Given the description of an element on the screen output the (x, y) to click on. 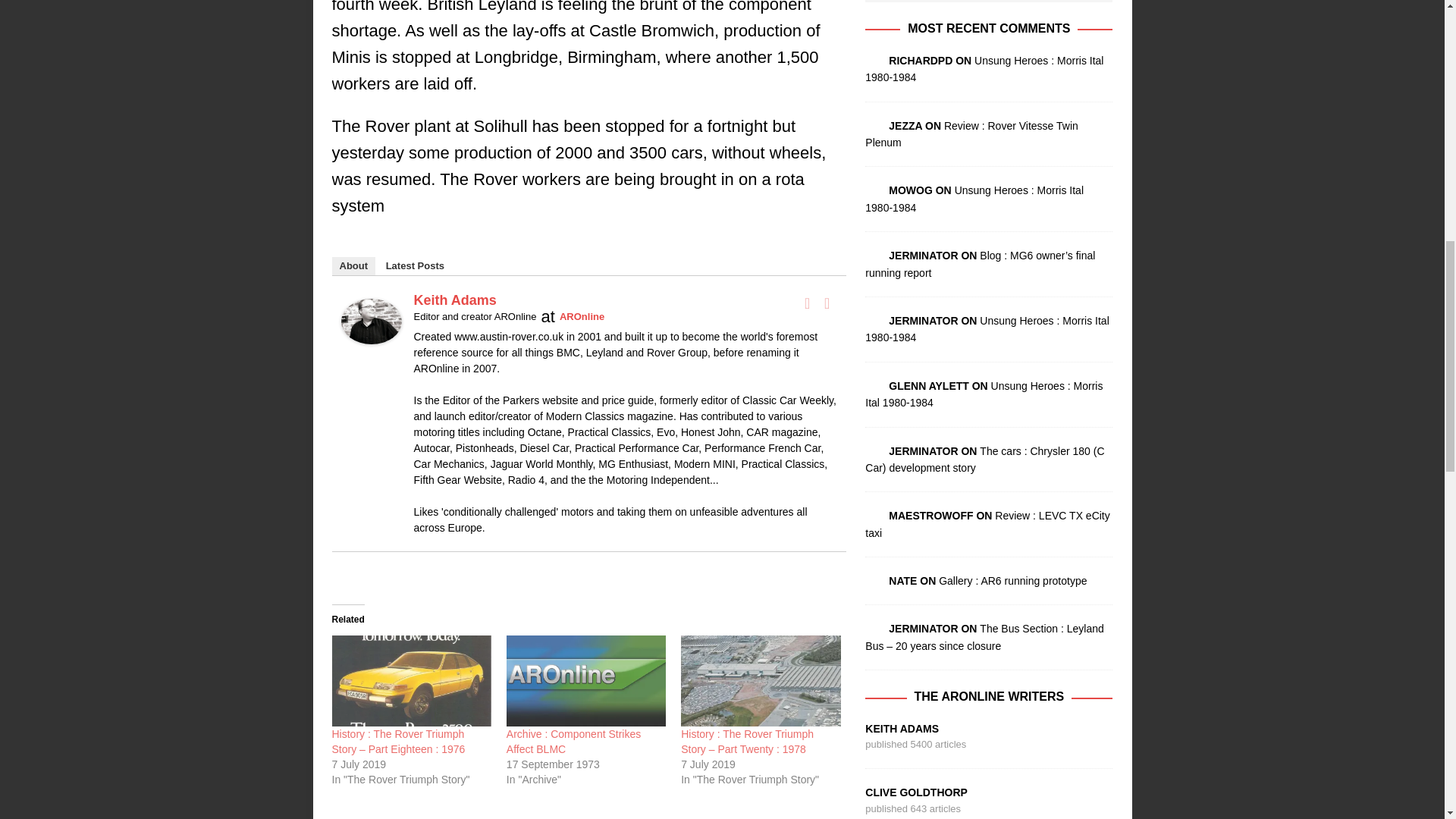
Keith Adams (370, 330)
Archive : Component Strikes Affect BLMC (573, 741)
Archive : Component Strikes Affect BLMC (585, 680)
Facebook (806, 303)
Twitter (826, 303)
